Given the description of an element on the screen output the (x, y) to click on. 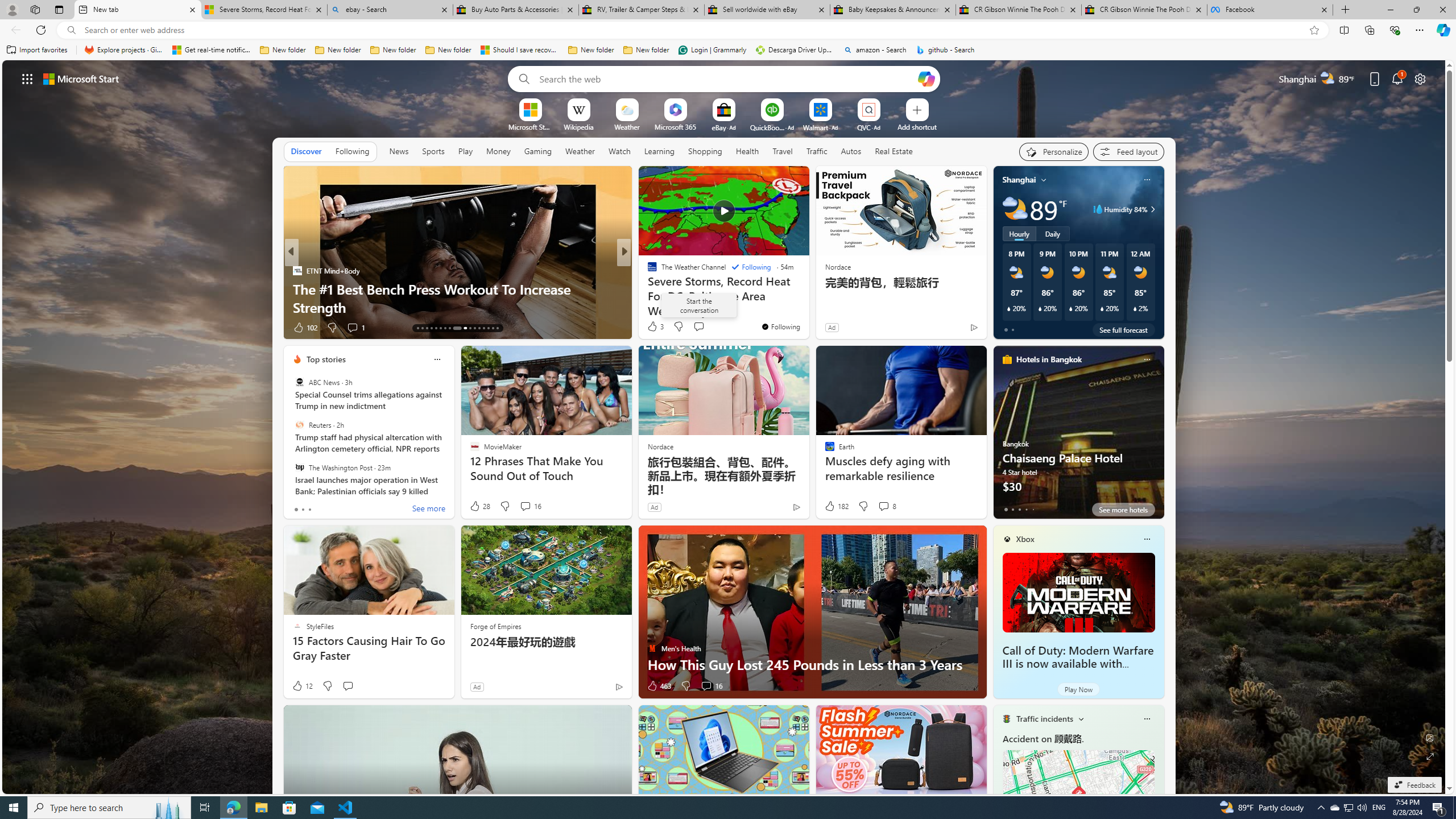
View comments 1 Comment (705, 327)
AutomationID: tab-23 (470, 328)
Las Vegas Strip visitors face outrageous new fee (807, 307)
Should I save recovered Word documents? - Microsoft Support (519, 49)
Favorites bar (728, 49)
Forge of Empires (495, 625)
App launcher (27, 78)
See more hotels (1123, 509)
Partly cloudy (1014, 208)
AutomationID: tab-24 (474, 328)
12 Like (301, 685)
hotels-header-icon (1006, 358)
Lonely dolphin may be behind series of attacks on swimmers (807, 298)
